Given the description of an element on the screen output the (x, y) to click on. 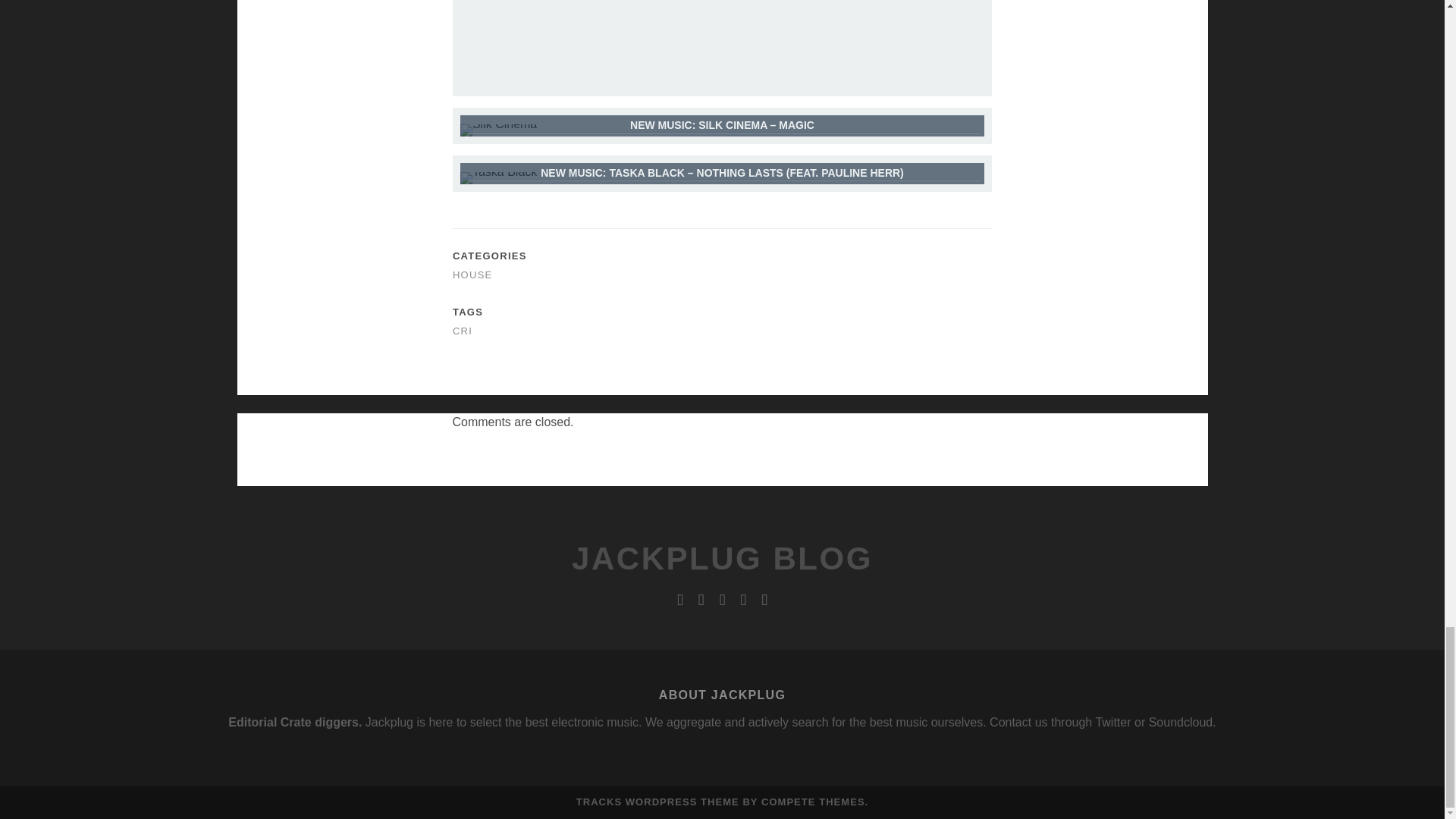
CRI (461, 330)
JACKPLUG BLOG (722, 558)
HOUSE (472, 274)
